Given the description of an element on the screen output the (x, y) to click on. 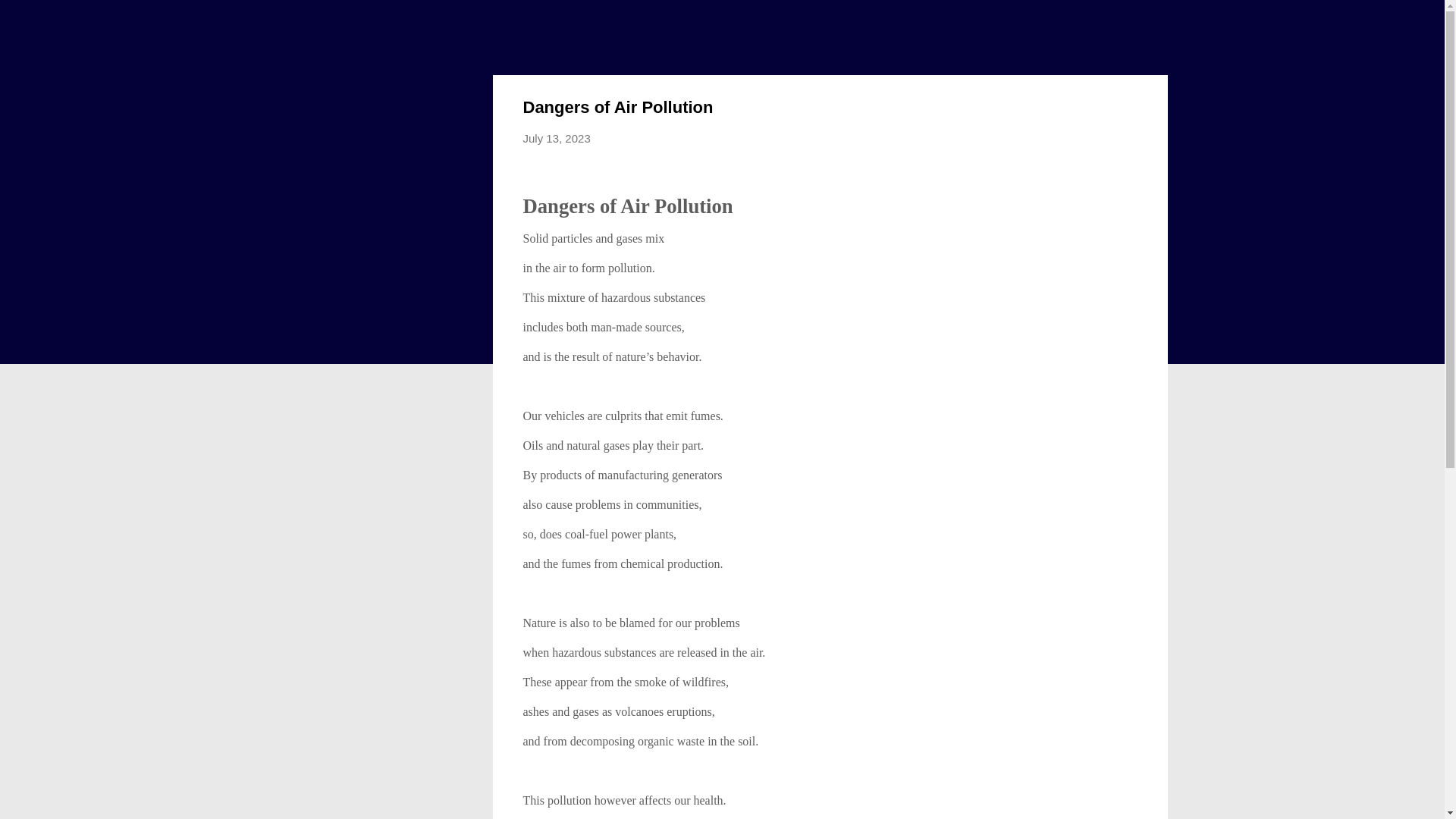
July 13, 2023 (556, 137)
permanent link (556, 137)
Search (29, 18)
